Given the description of an element on the screen output the (x, y) to click on. 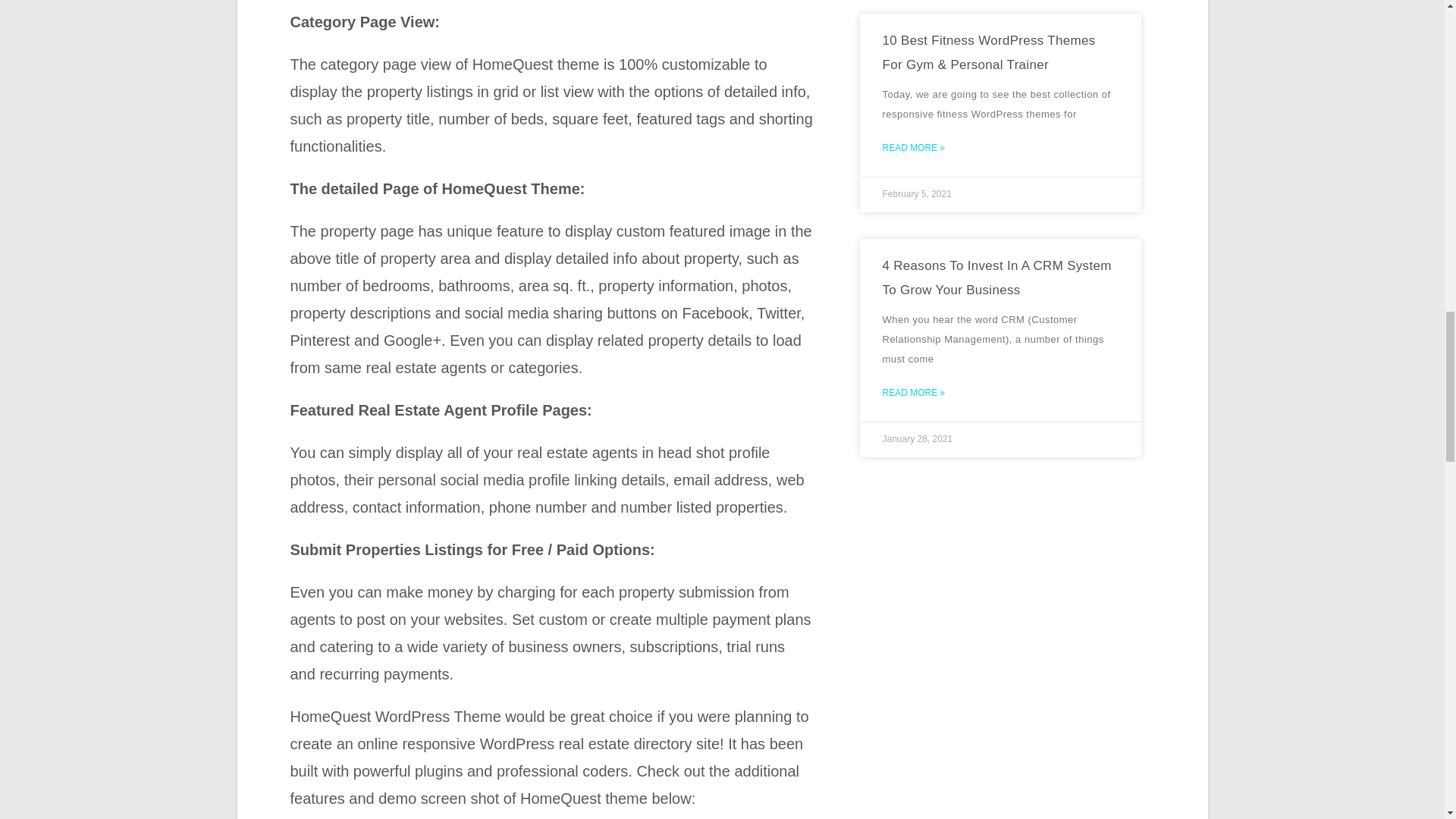
4 Reasons To Invest In A CRM System To Grow Your Business (997, 277)
